Given the description of an element on the screen output the (x, y) to click on. 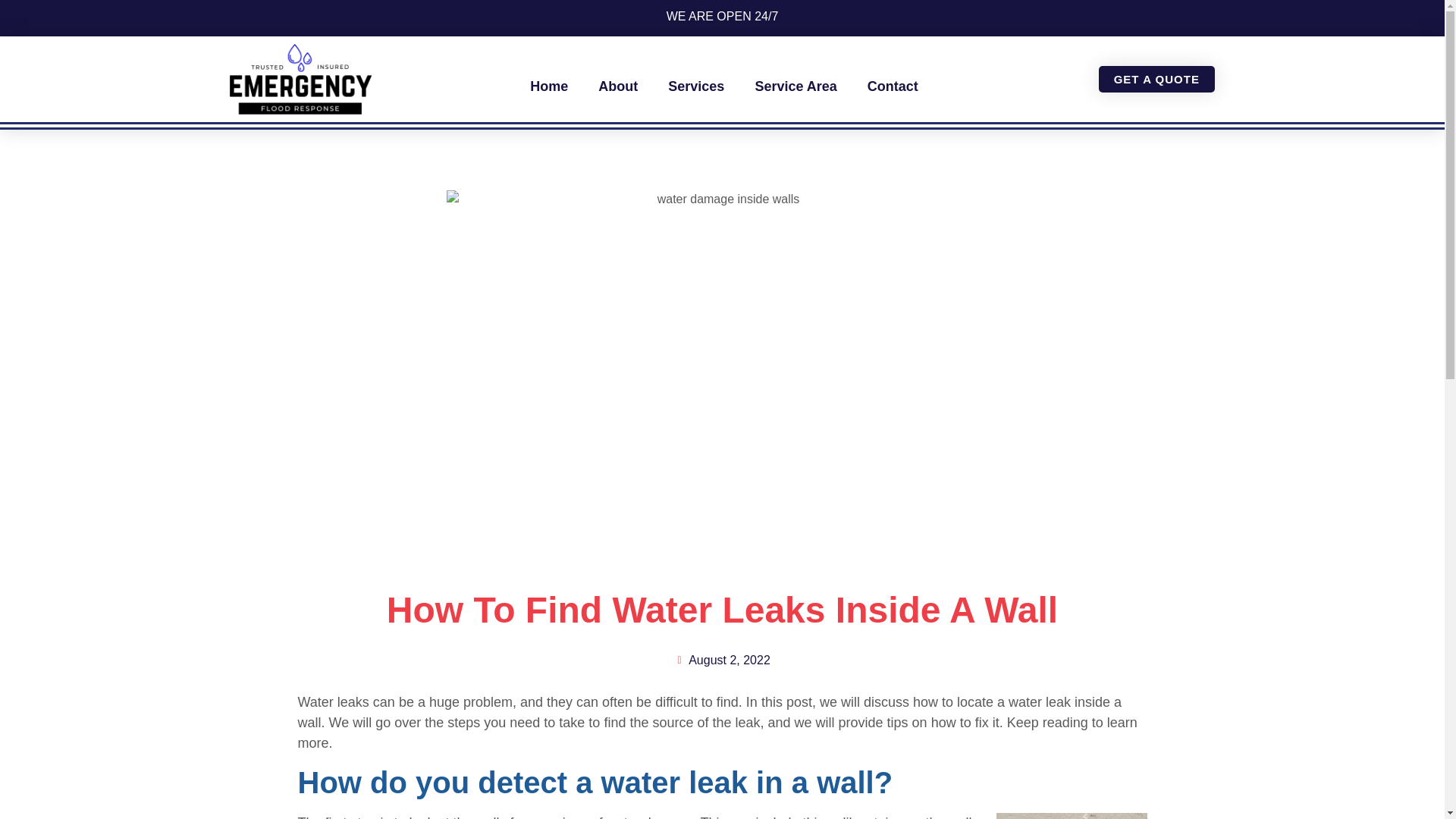
Services (695, 86)
Contact (892, 86)
About (617, 86)
Service Area (795, 86)
Home (549, 86)
